Given the description of an element on the screen output the (x, y) to click on. 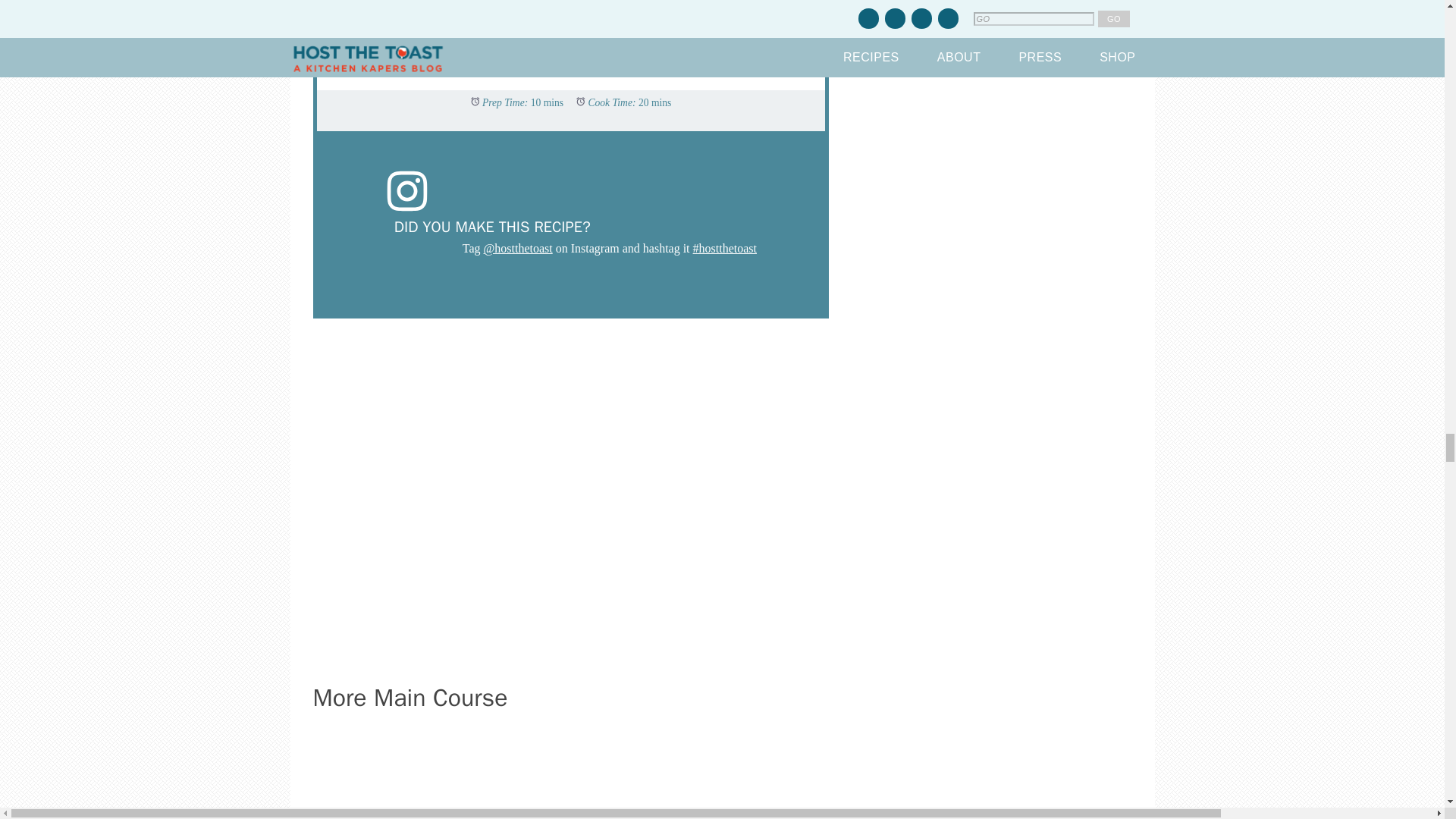
Roasted Spring Vegetable and Crispy Farro Salad (504, 775)
